Given the description of an element on the screen output the (x, y) to click on. 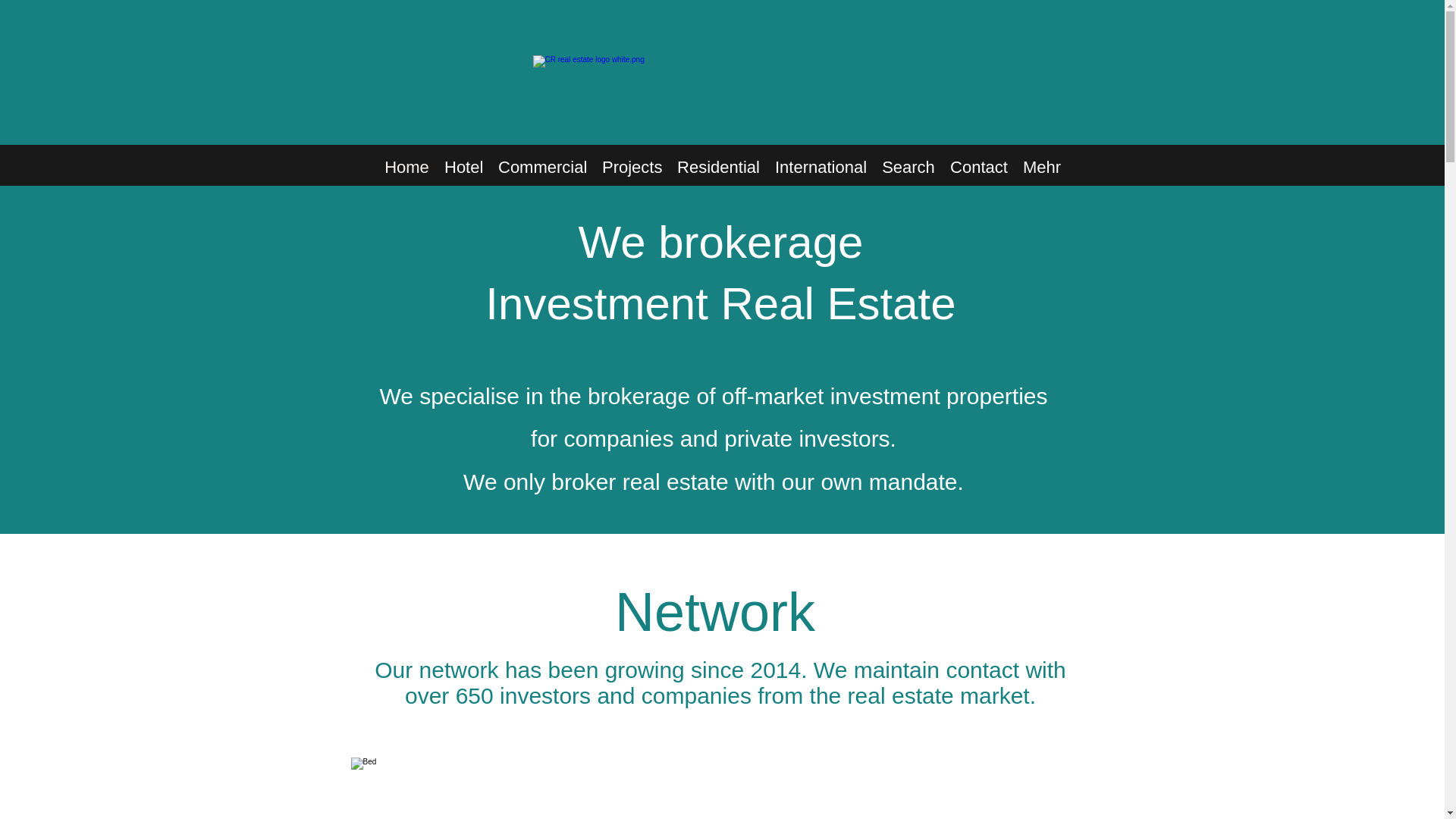
Projects (631, 166)
Contact (978, 166)
International (821, 166)
Search (908, 166)
Residential (718, 166)
Home (406, 166)
Hotel (463, 166)
Commercial (542, 166)
